Given the description of an element on the screen output the (x, y) to click on. 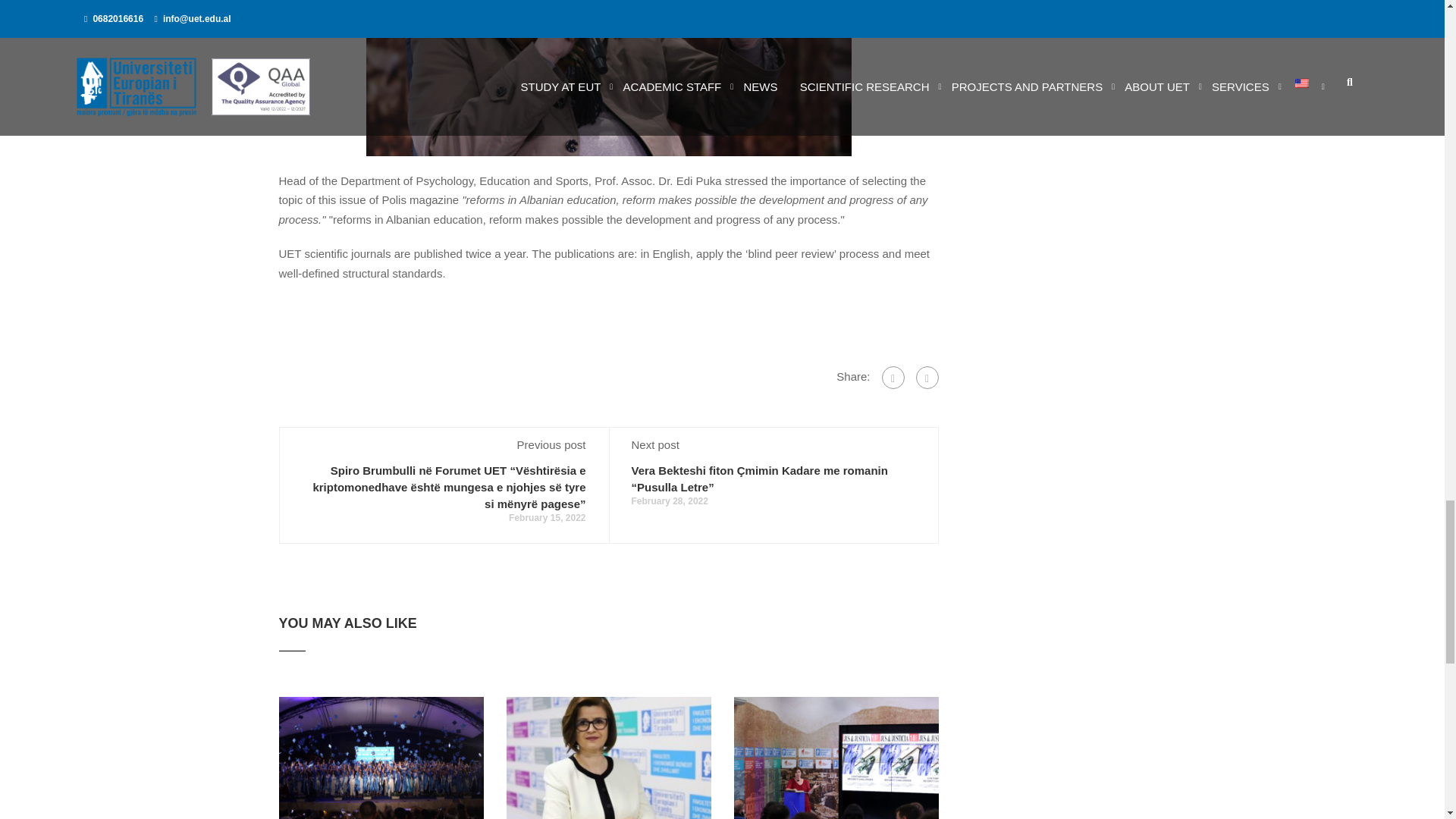
IMG-20240703-WA0001 (608, 757)
Facebook (892, 377)
